Given the description of an element on the screen output the (x, y) to click on. 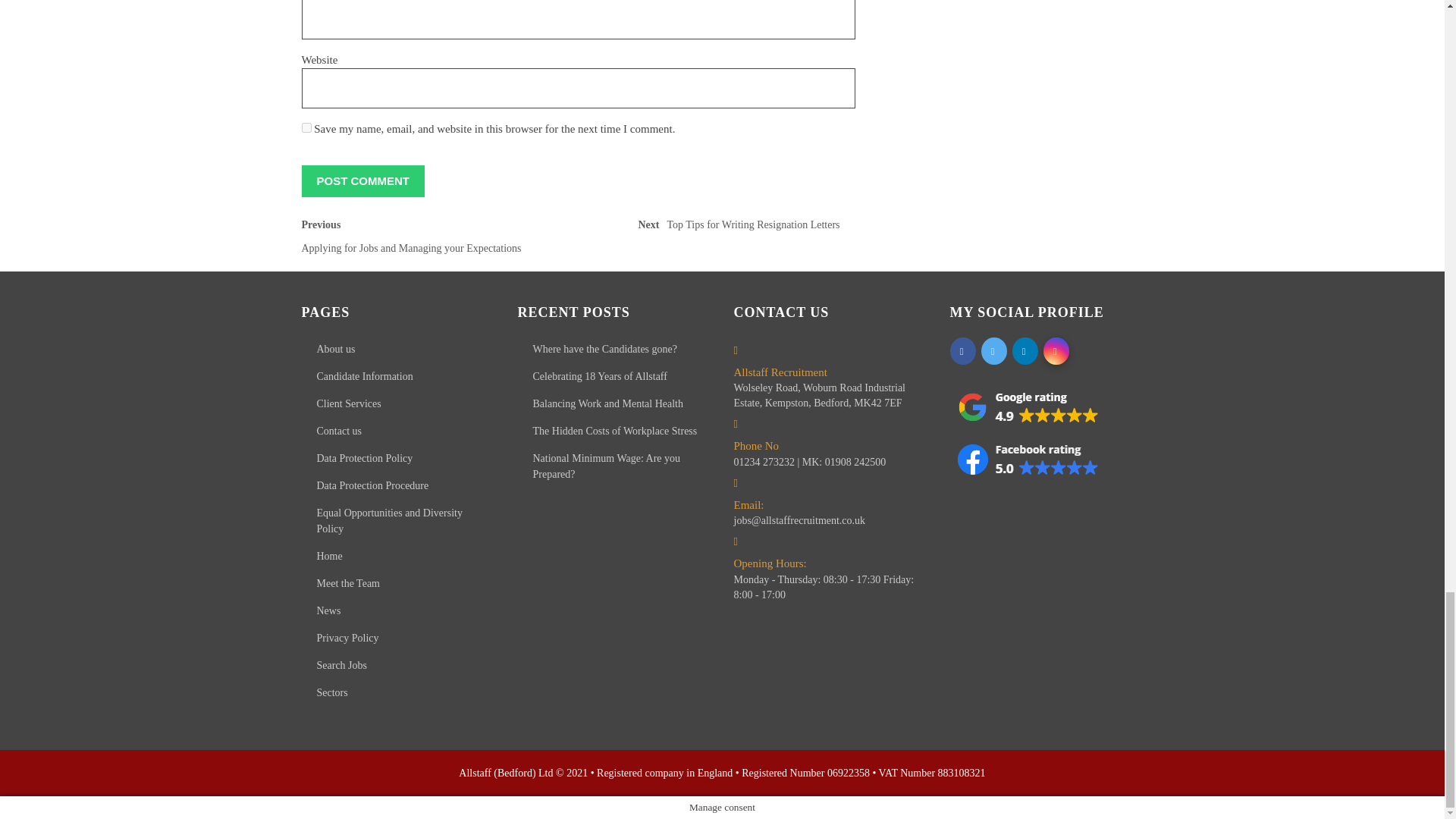
yes (306, 127)
Post Comment (742, 228)
Post Comment (363, 180)
